Given the description of an element on the screen output the (x, y) to click on. 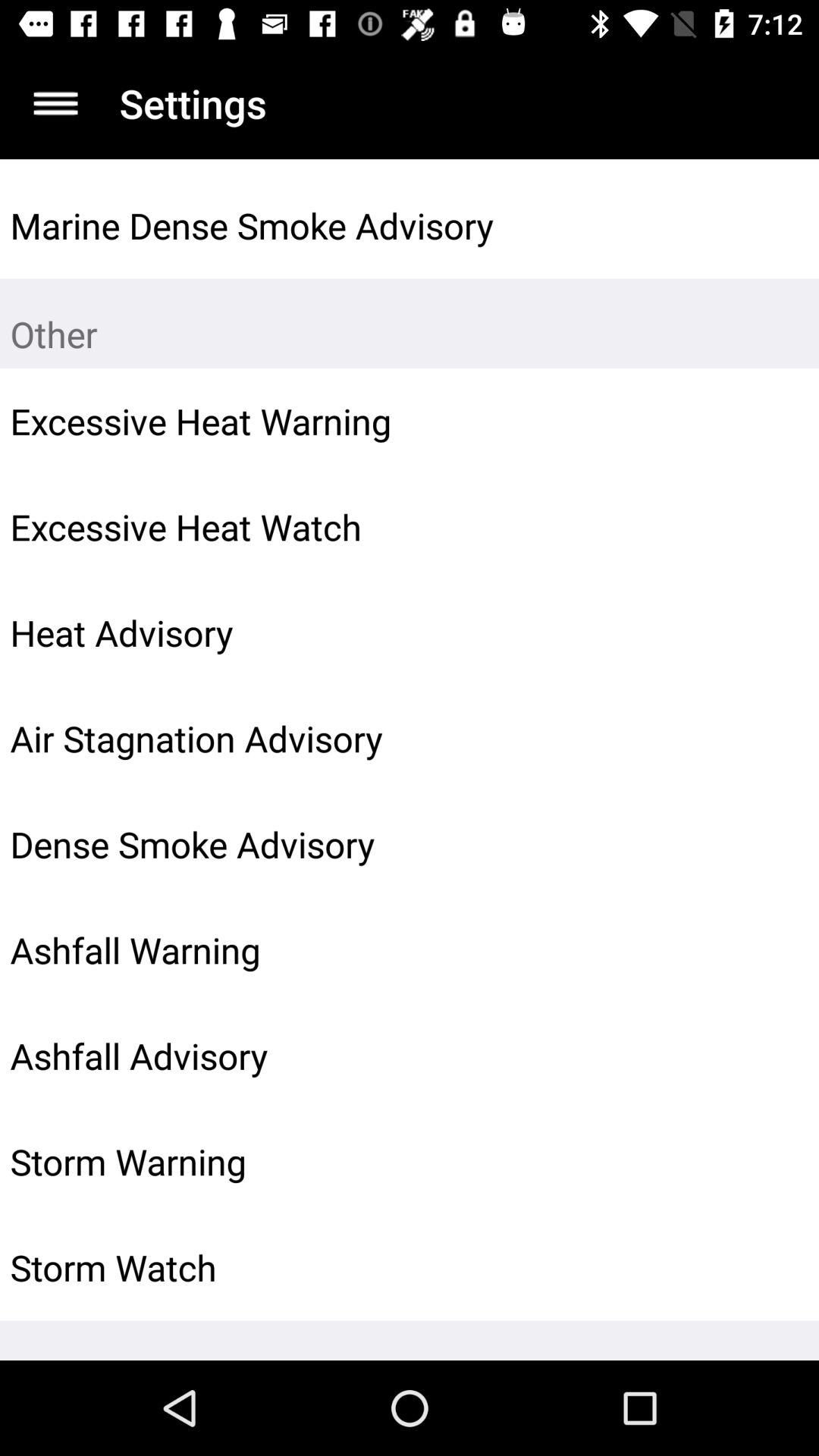
select item next to excessive heat watch (771, 527)
